Given the description of an element on the screen output the (x, y) to click on. 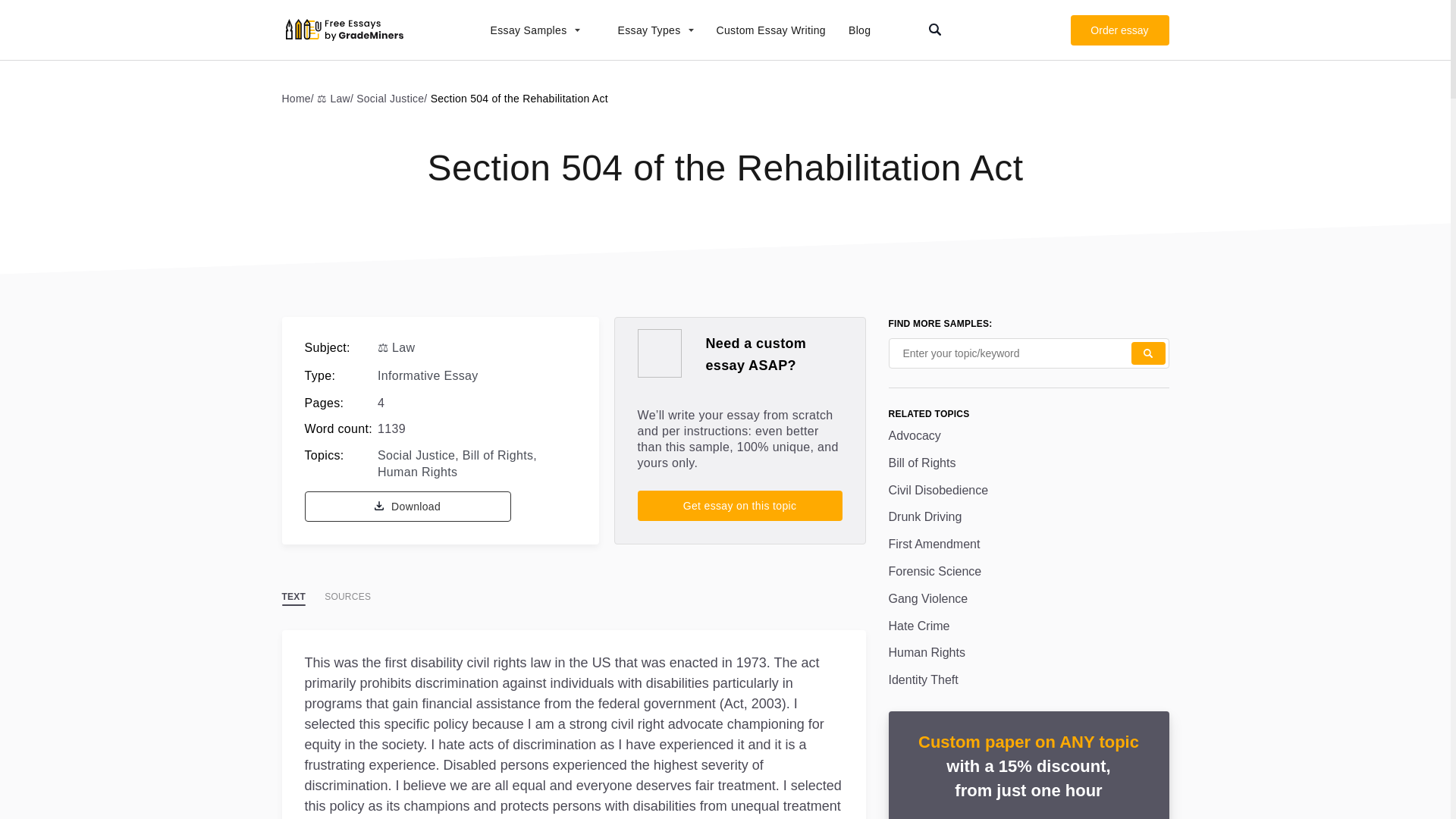
Go to Examples. (299, 97)
Go to the Social Justice Example Category archives. (392, 97)
Essay Samples (526, 30)
Search (1148, 353)
Essay Types (648, 30)
